Given the description of an element on the screen output the (x, y) to click on. 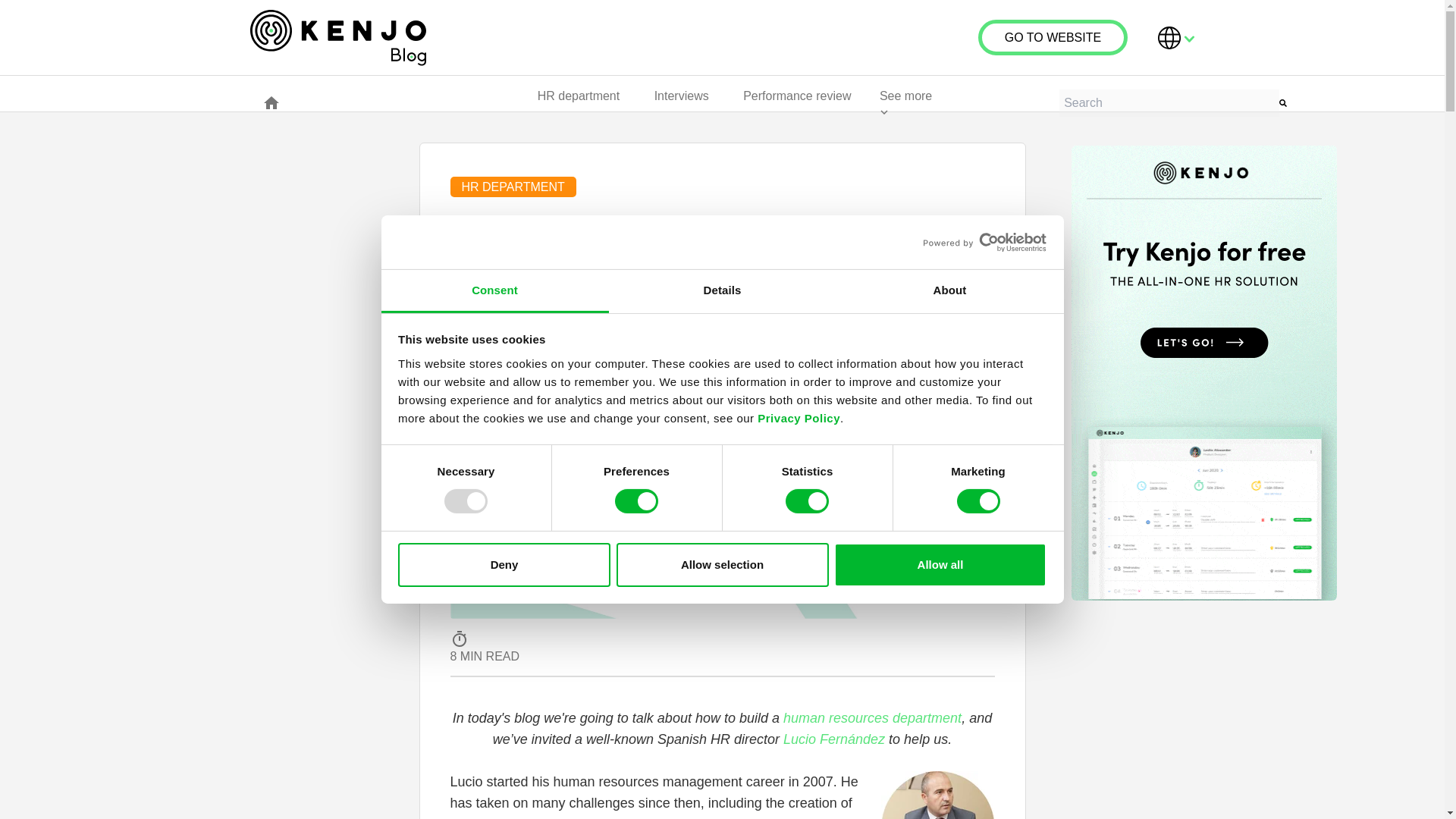
Details (721, 291)
About (948, 291)
Consent (494, 291)
Privacy Policy (798, 418)
